Given the description of an element on the screen output the (x, y) to click on. 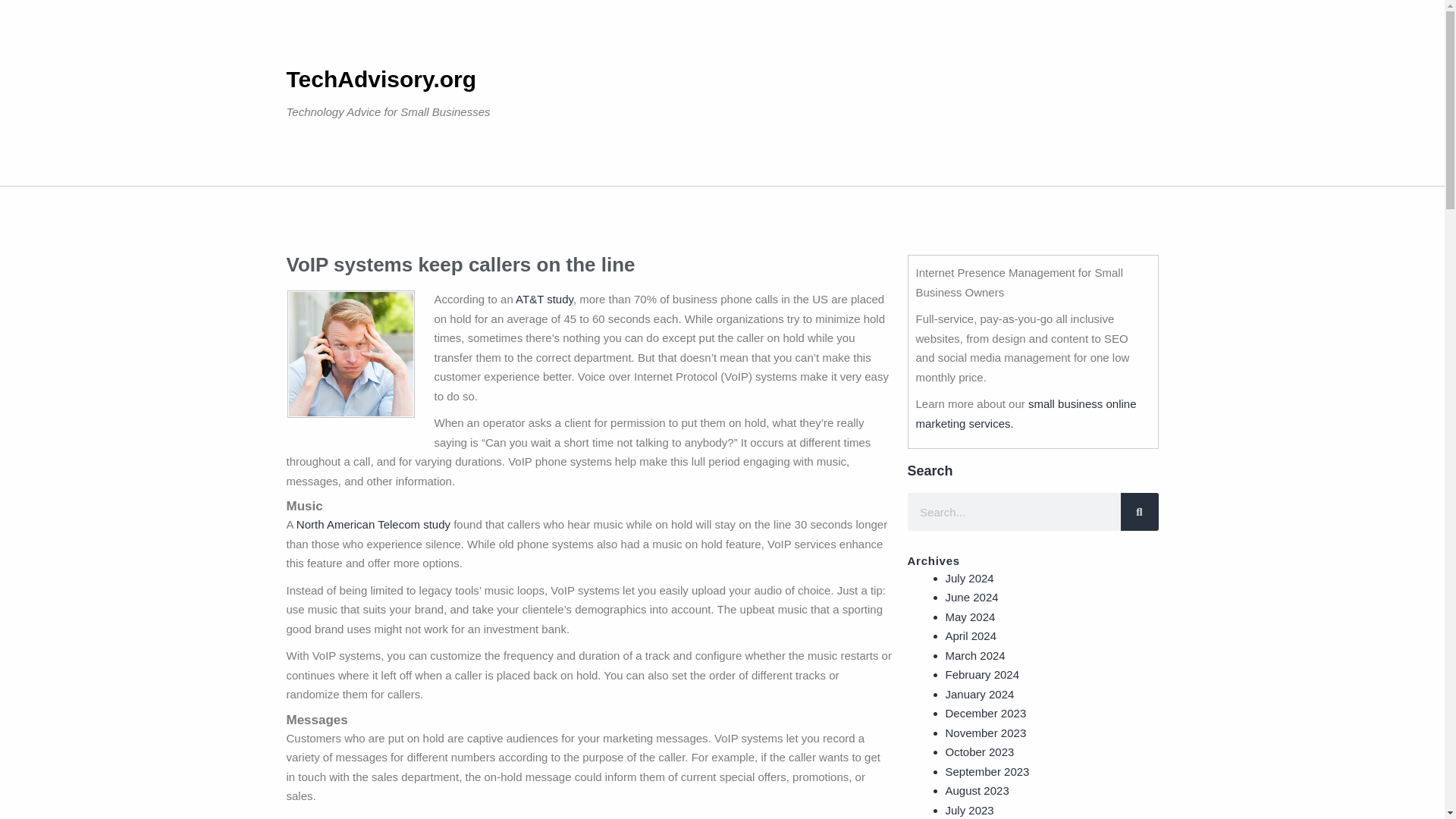
July 2023 (968, 809)
June 2024 (970, 596)
April 2024 (969, 635)
September 2023 (986, 770)
July 2024 (968, 577)
May 2024 (969, 615)
August 2023 (976, 789)
March 2024 (974, 655)
small business online marketing services. (1026, 413)
December 2023 (985, 712)
February 2024 (981, 674)
January 2024 (978, 693)
October 2023 (978, 751)
TechAdvisory.org (381, 78)
North American Telecom study (373, 523)
